Given the description of an element on the screen output the (x, y) to click on. 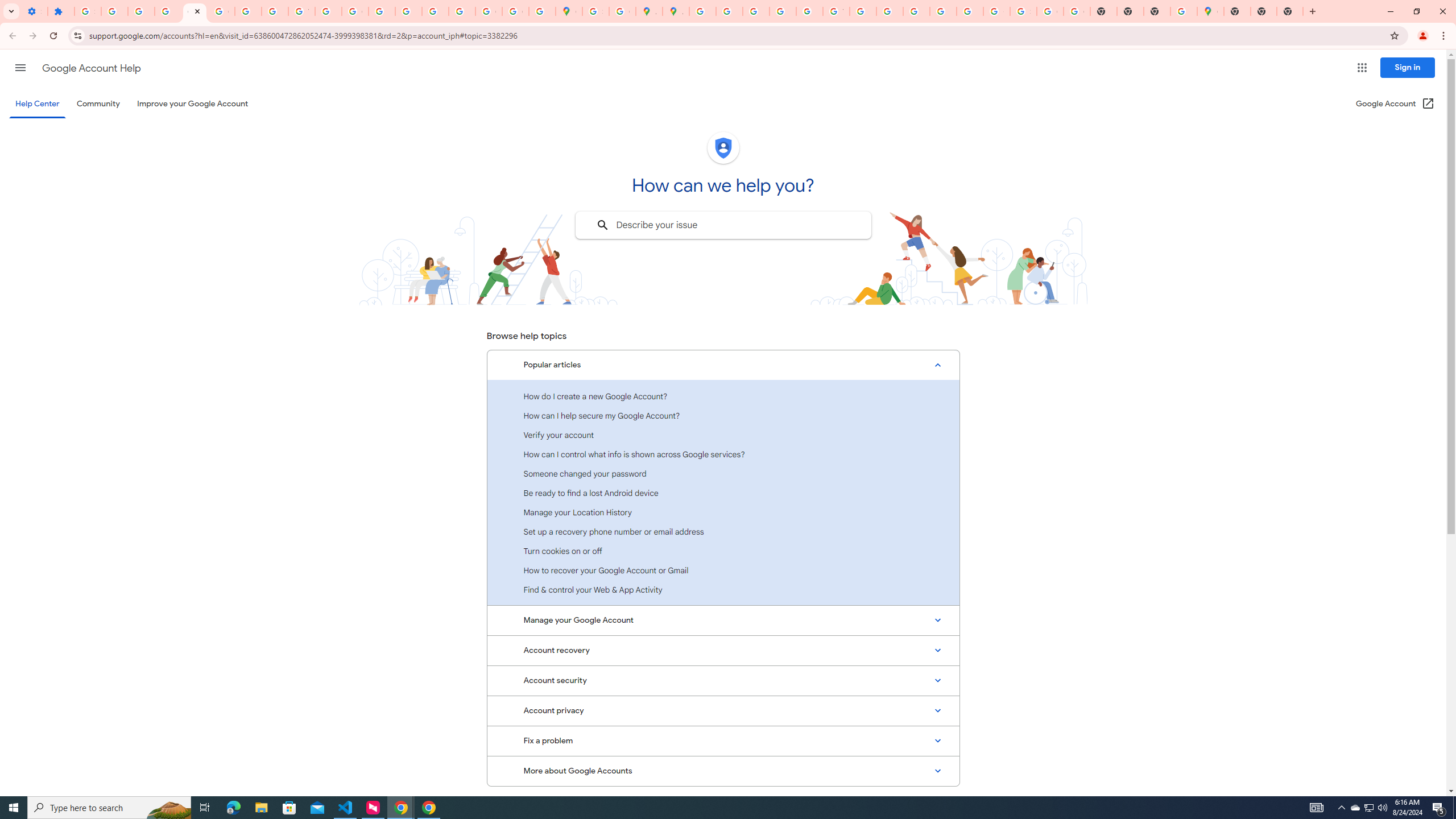
Policy Accountability and Transparency - Transparency Center (702, 11)
Google Account Help (91, 68)
Sign in - Google Accounts (1023, 11)
More about Google Accounts (722, 771)
How can I control what info is shown across Google services? (722, 454)
How can I help secure my Google Account? (722, 415)
Account privacy (722, 710)
New Tab (1156, 11)
